Given the description of an element on the screen output the (x, y) to click on. 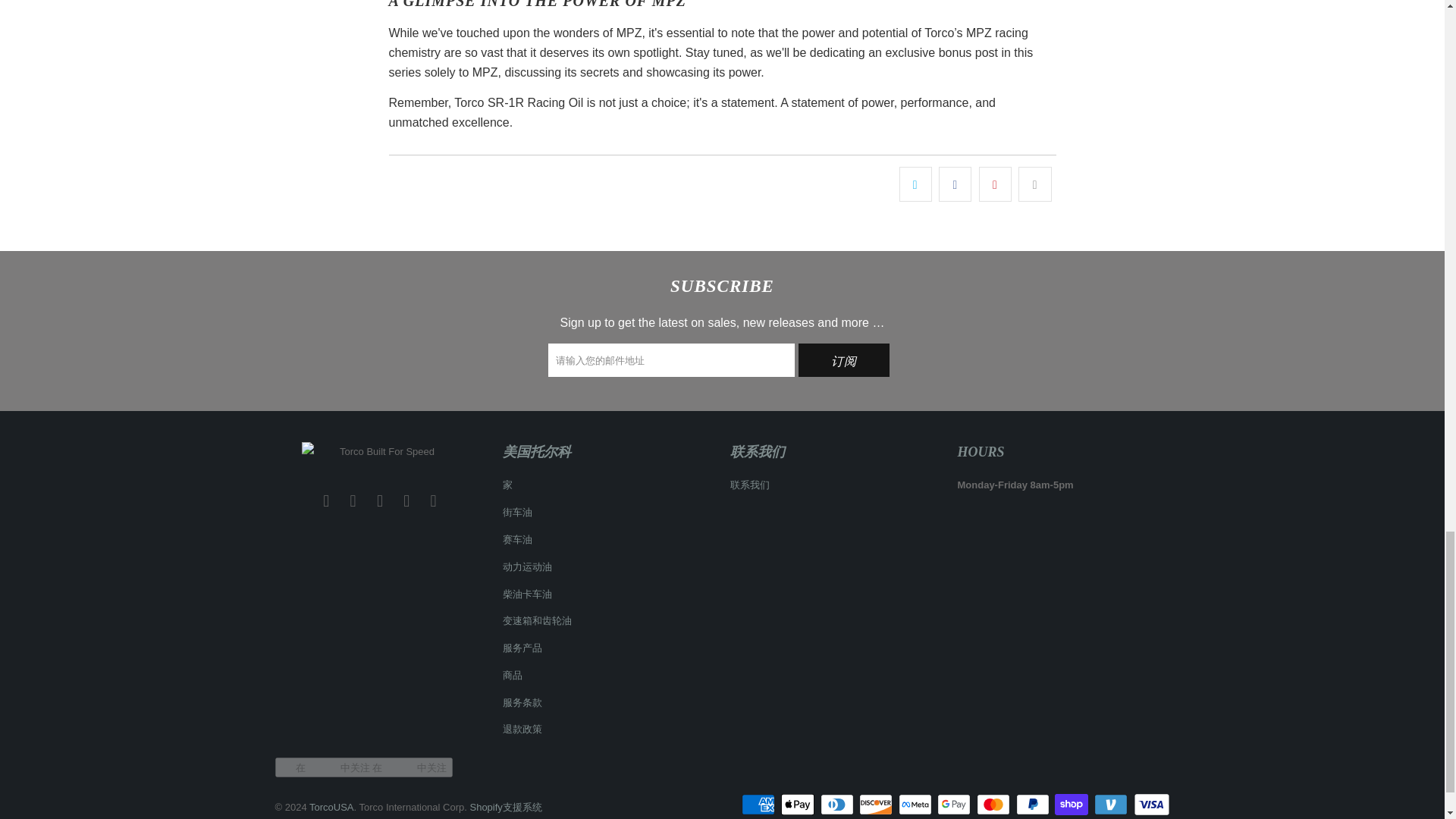
American Express (759, 804)
Diners Club (839, 804)
Discover (877, 804)
Mastercard (994, 804)
Shop Pay (1072, 804)
Venmo (1112, 804)
PayPal (1034, 804)
Google Pay (955, 804)
Apple Pay (798, 804)
Meta Pay (916, 804)
